Given the description of an element on the screen output the (x, y) to click on. 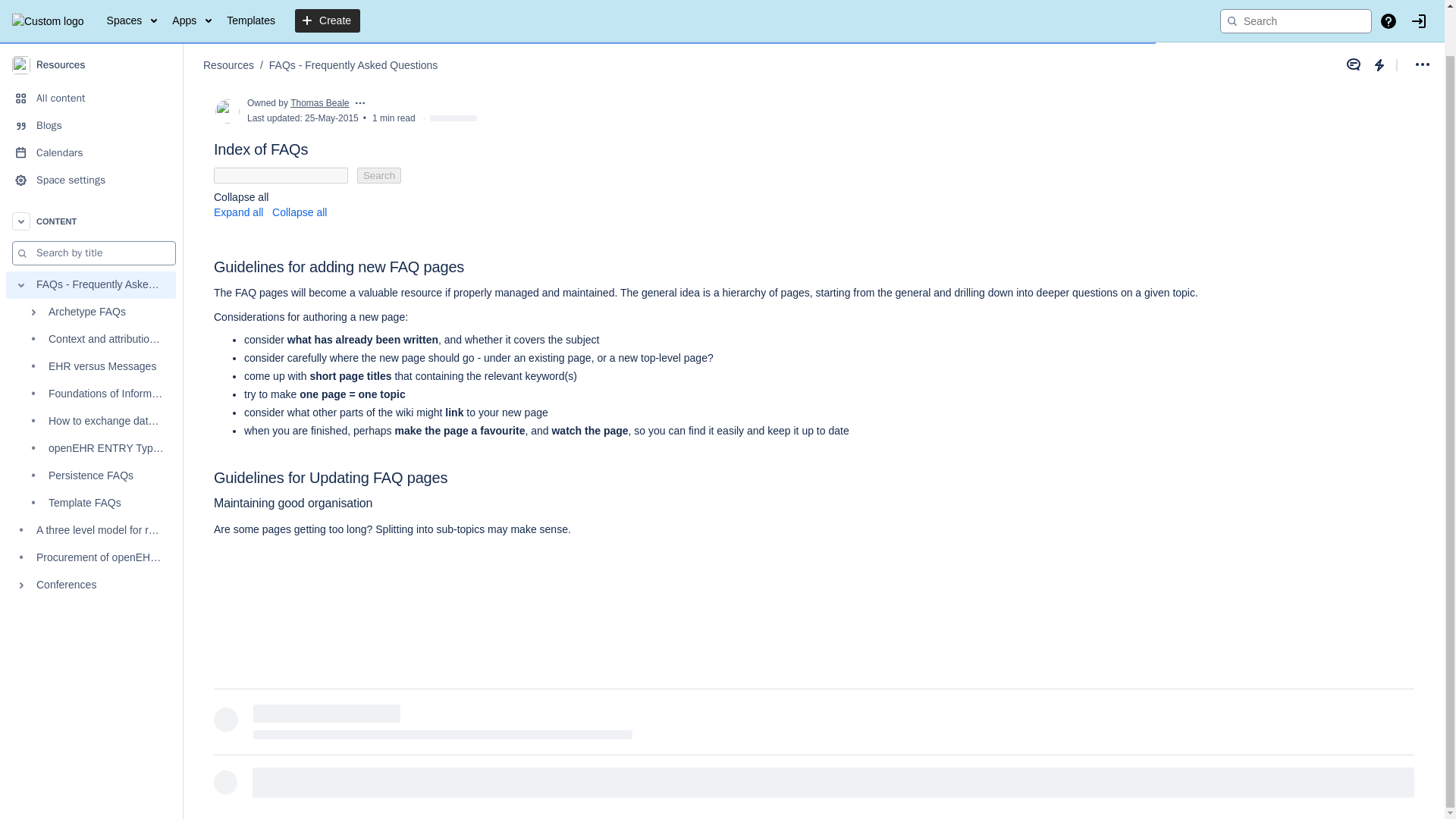
Blogs (90, 76)
Thomas Beale (319, 102)
Archetype FAQs (90, 263)
CONTENT (90, 172)
FAQs - Frequently Asked Questions (353, 16)
Calendars (90, 103)
Space settings (90, 131)
All content (90, 49)
25-May-2015 (331, 118)
Resources (90, 16)
